Given the description of an element on the screen output the (x, y) to click on. 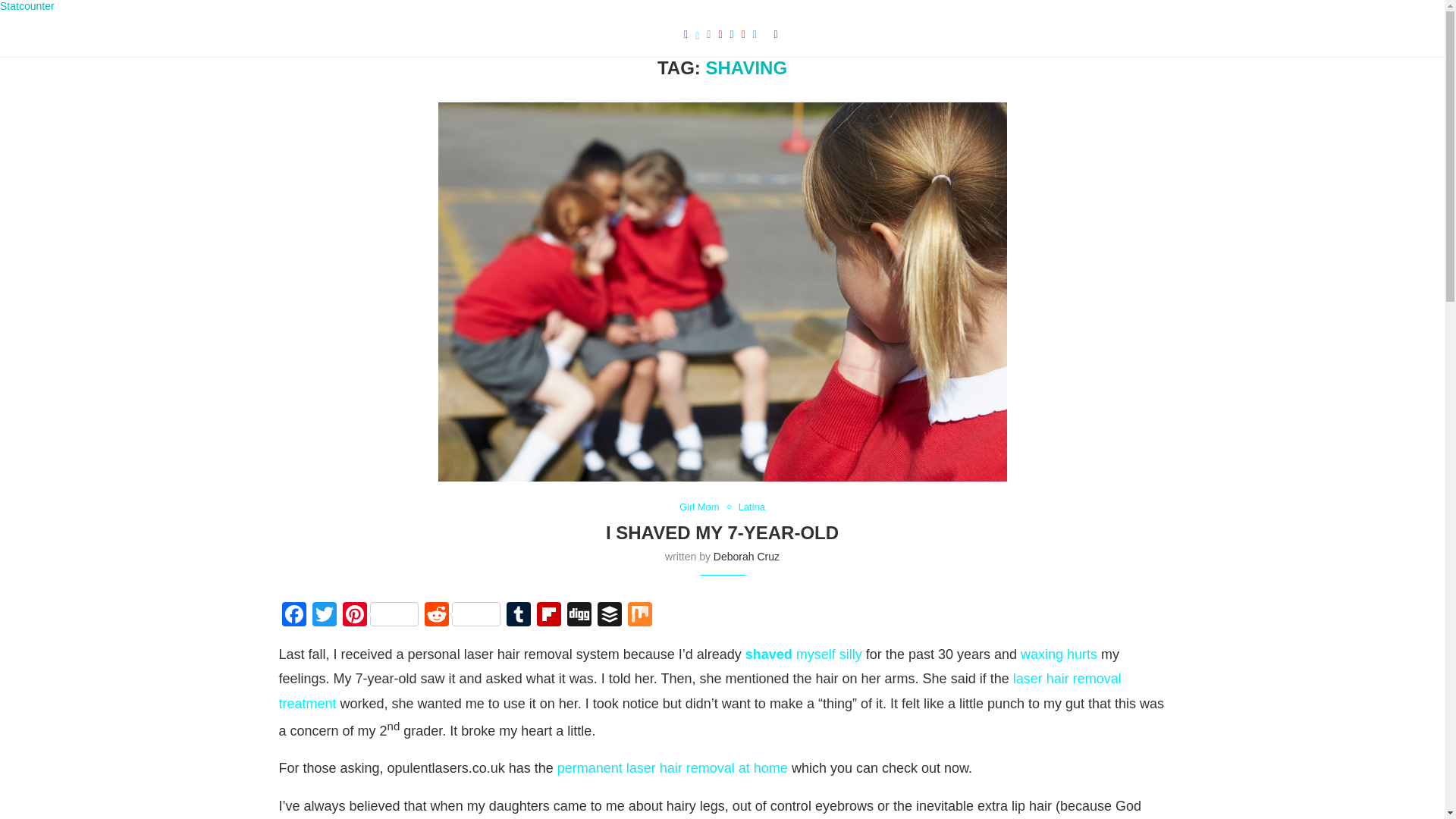
Flipboard (549, 615)
Statcounter (27, 6)
Pinterest (380, 615)
laser hair removal treatment (700, 690)
Mix (639, 615)
waxing hurts (1058, 654)
Facebook (293, 615)
Reddit (462, 615)
Flipboard (549, 615)
Deborah Cruz (745, 556)
Twitter (323, 615)
Girl Mom (702, 507)
Tumblr (518, 615)
Pinterest (380, 615)
